Given the description of an element on the screen output the (x, y) to click on. 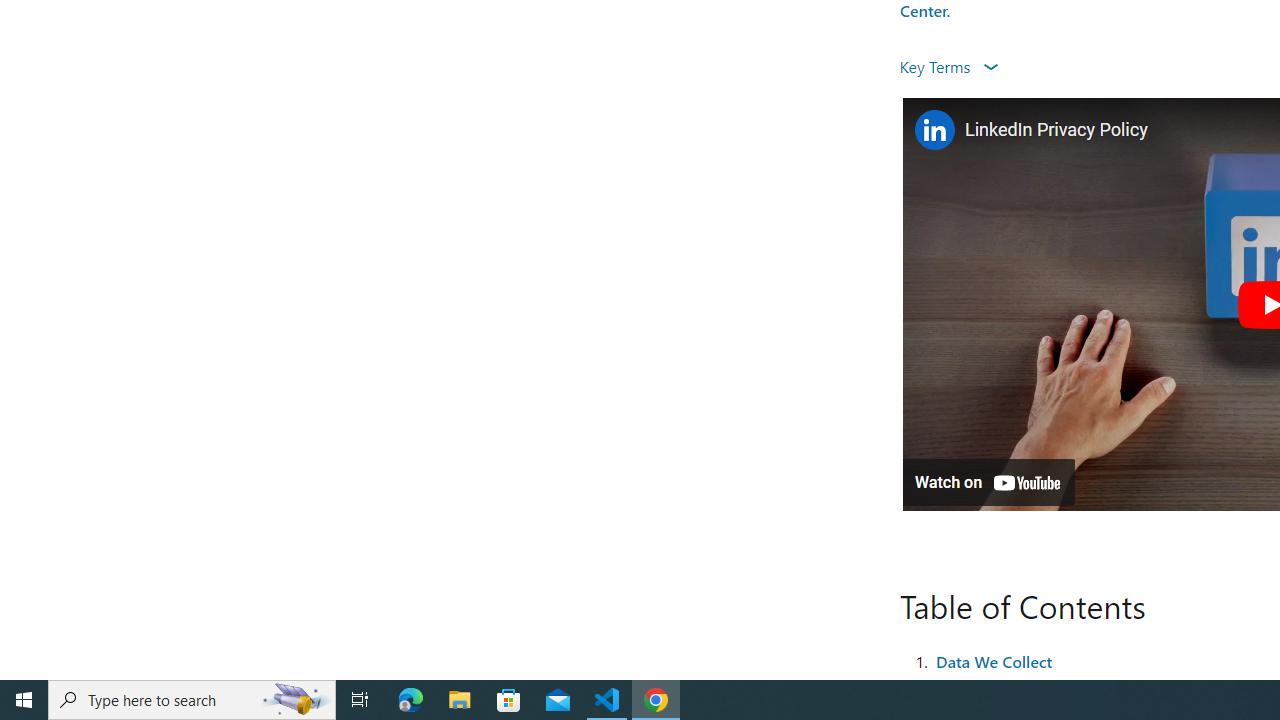
Photo image of LinkedIn (933, 129)
Key Terms  (948, 66)
Data We Collect (993, 660)
Watch on YouTube (988, 482)
